Given the description of an element on the screen output the (x, y) to click on. 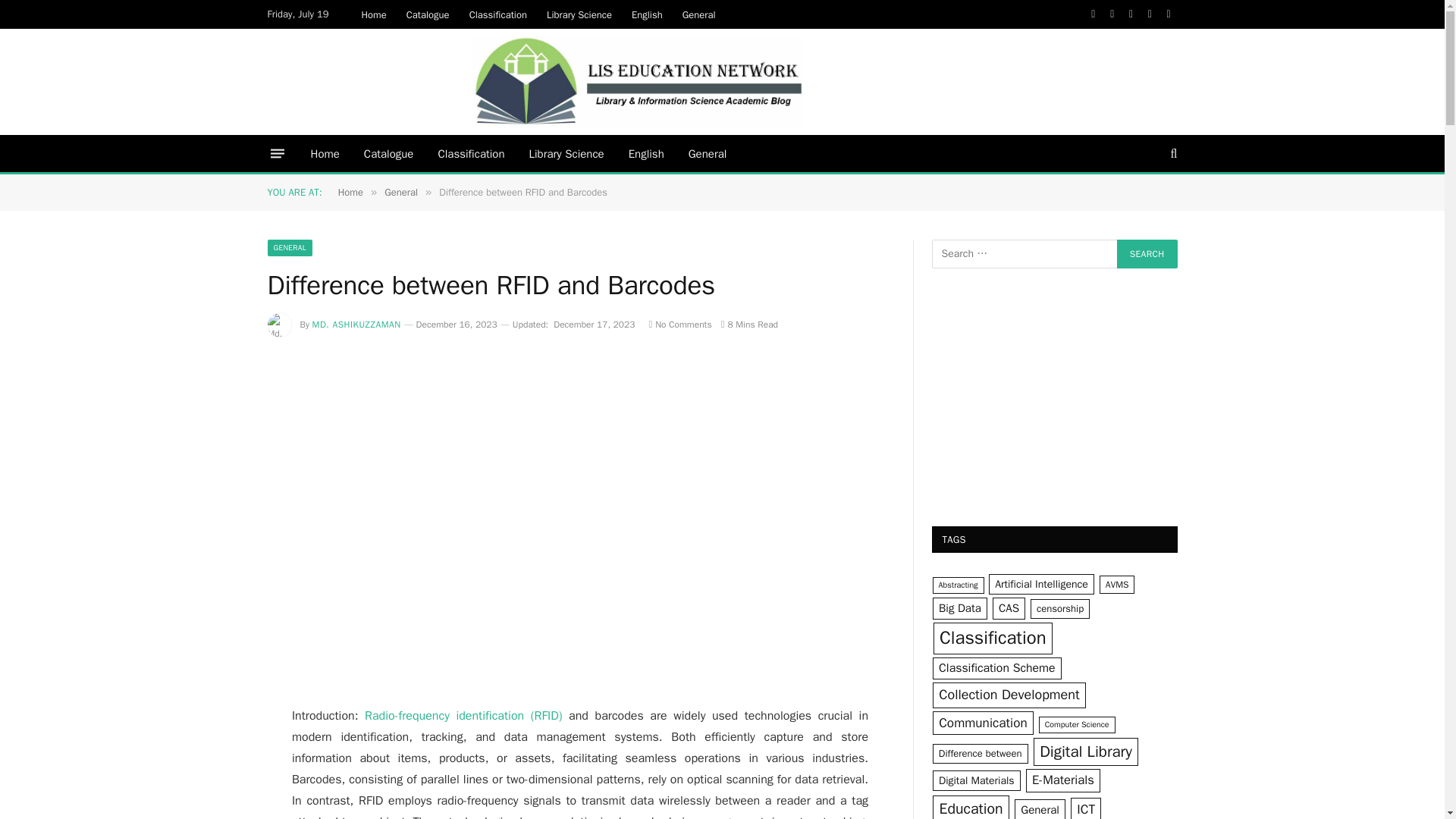
English (646, 153)
Catalogue (428, 14)
General (698, 14)
Library Science (579, 14)
Posts by Md. Ashikuzzaman (357, 324)
Home (374, 14)
Search (1146, 253)
Classification (470, 153)
Home (325, 153)
Library Science (565, 153)
Classification (498, 14)
No Comments (679, 324)
Search (1146, 253)
Advertisement (579, 557)
General (708, 153)
